Given the description of an element on the screen output the (x, y) to click on. 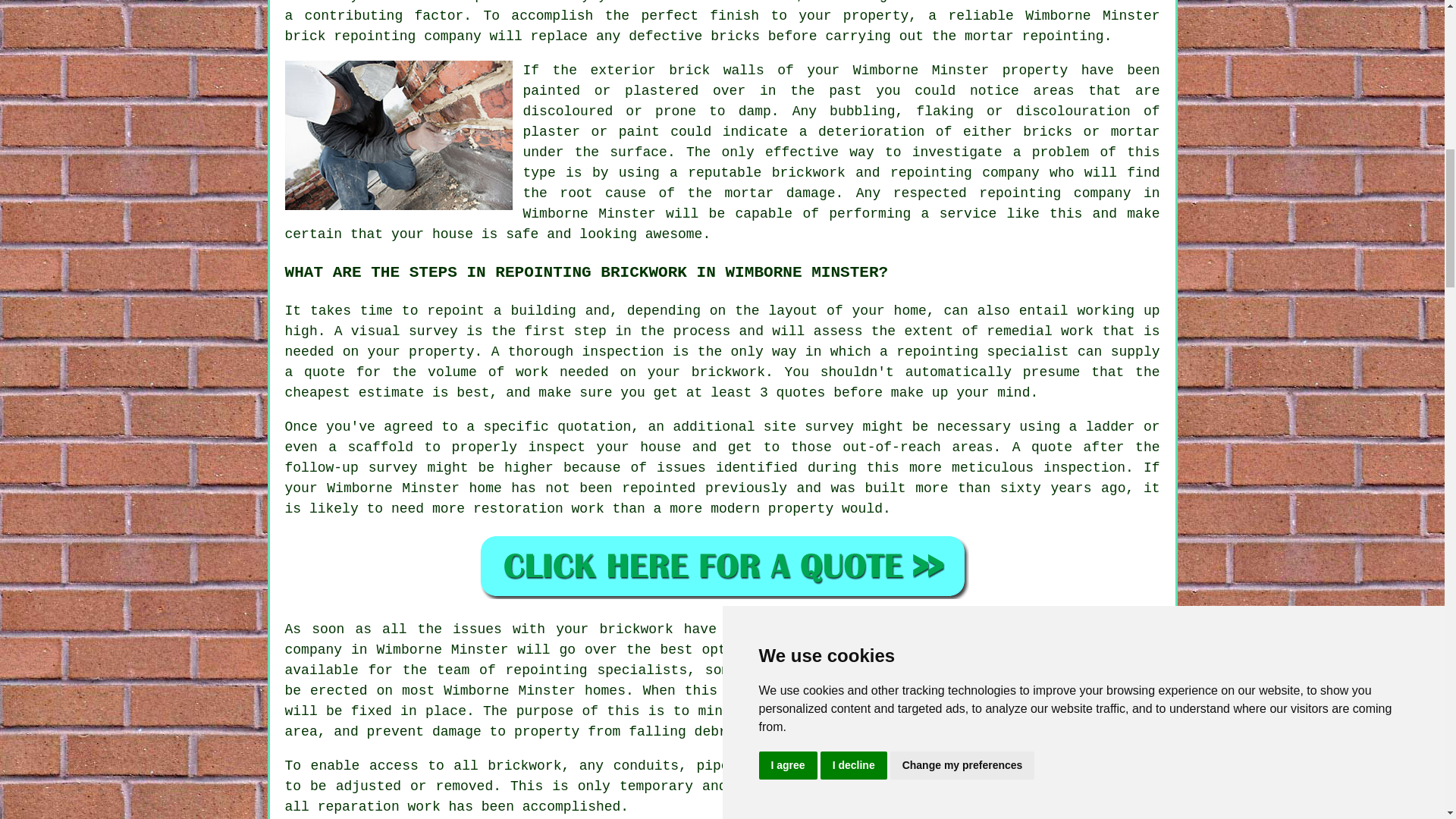
repointing company (1054, 192)
Brickwork Repointing Wimborne Minster (398, 134)
Repointing Quotes Wimborne Minster (722, 565)
repoint (455, 310)
brick repointing (350, 36)
repointed (658, 488)
